Given the description of an element on the screen output the (x, y) to click on. 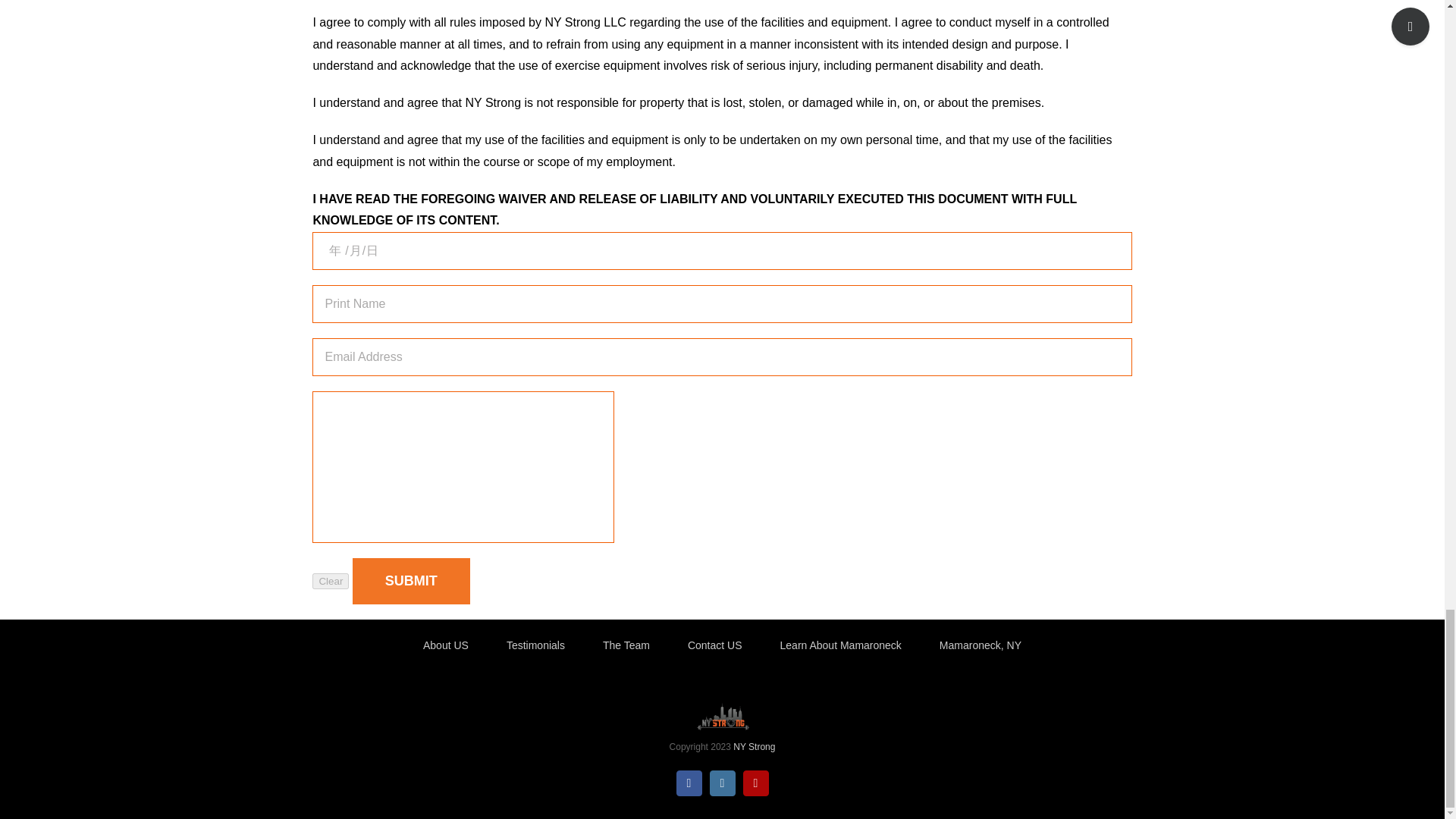
Instagram (722, 783)
Yelp (755, 783)
Facebook (689, 783)
Submit (411, 580)
